Given the description of an element on the screen output the (x, y) to click on. 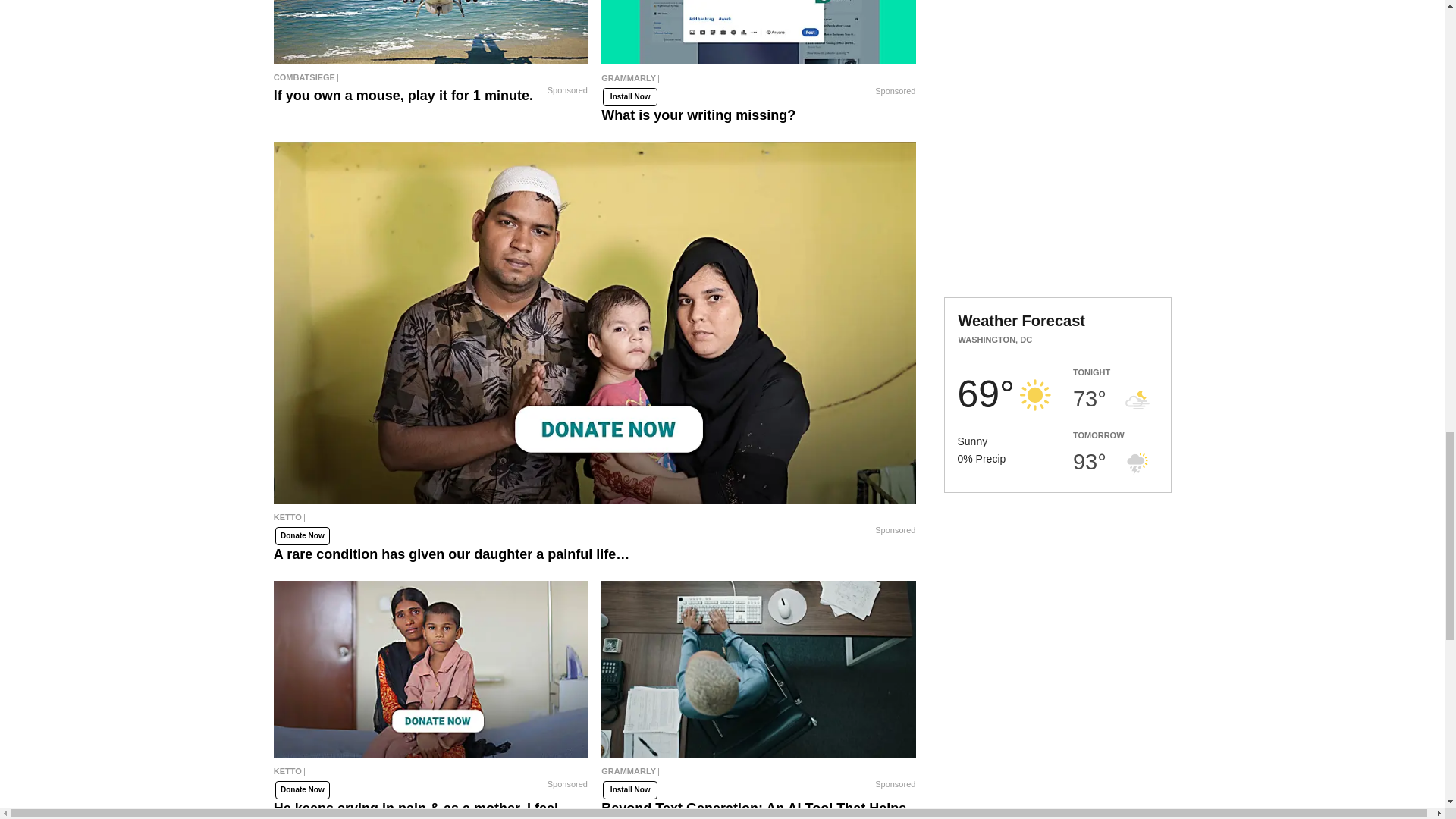
If you own a mouse, play it for 1 minute. (430, 32)
If you own a mouse, play it for 1 minute. (430, 76)
